Given the description of an element on the screen output the (x, y) to click on. 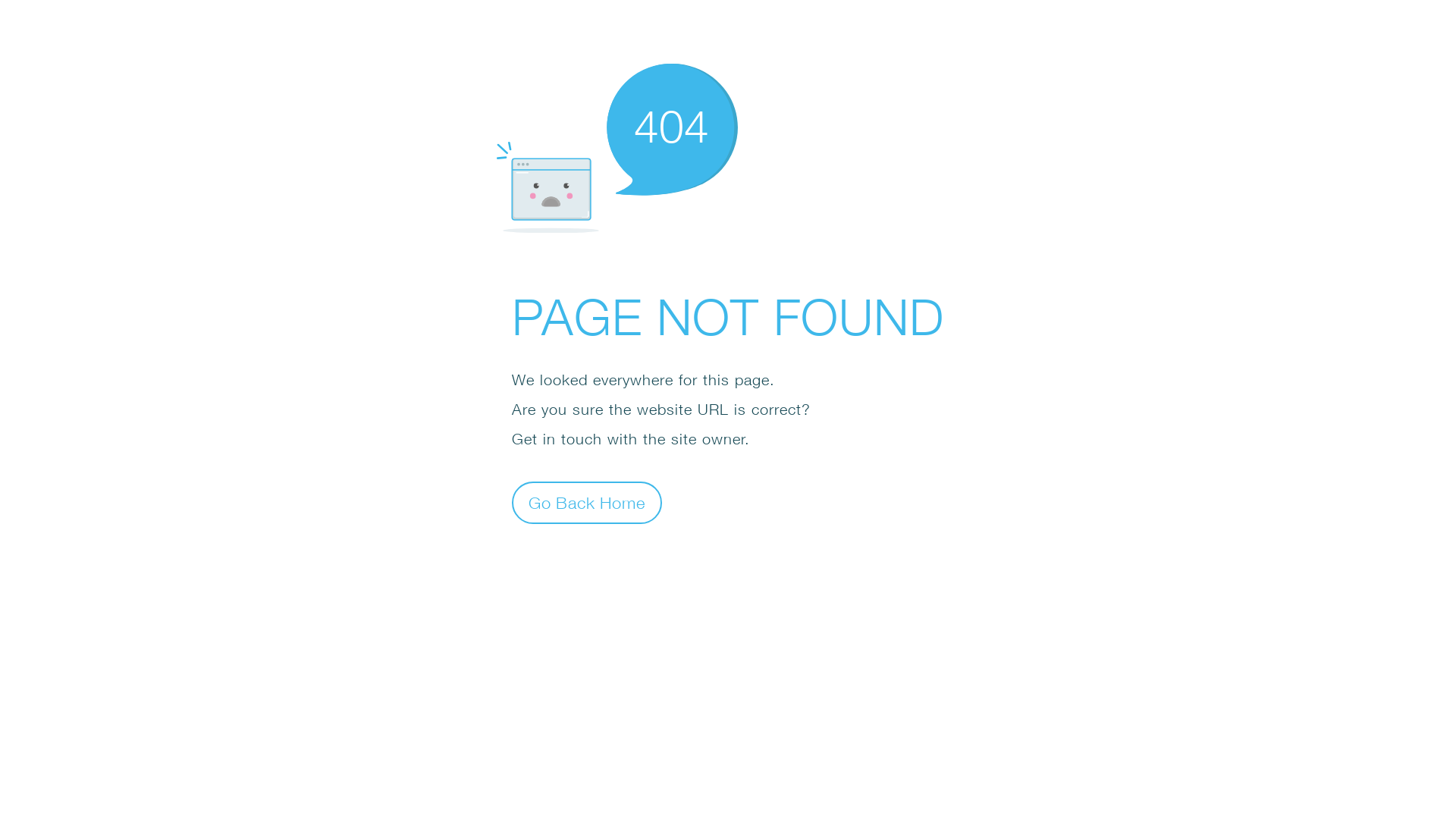
Go Back Home Element type: text (586, 502)
